Given the description of an element on the screen output the (x, y) to click on. 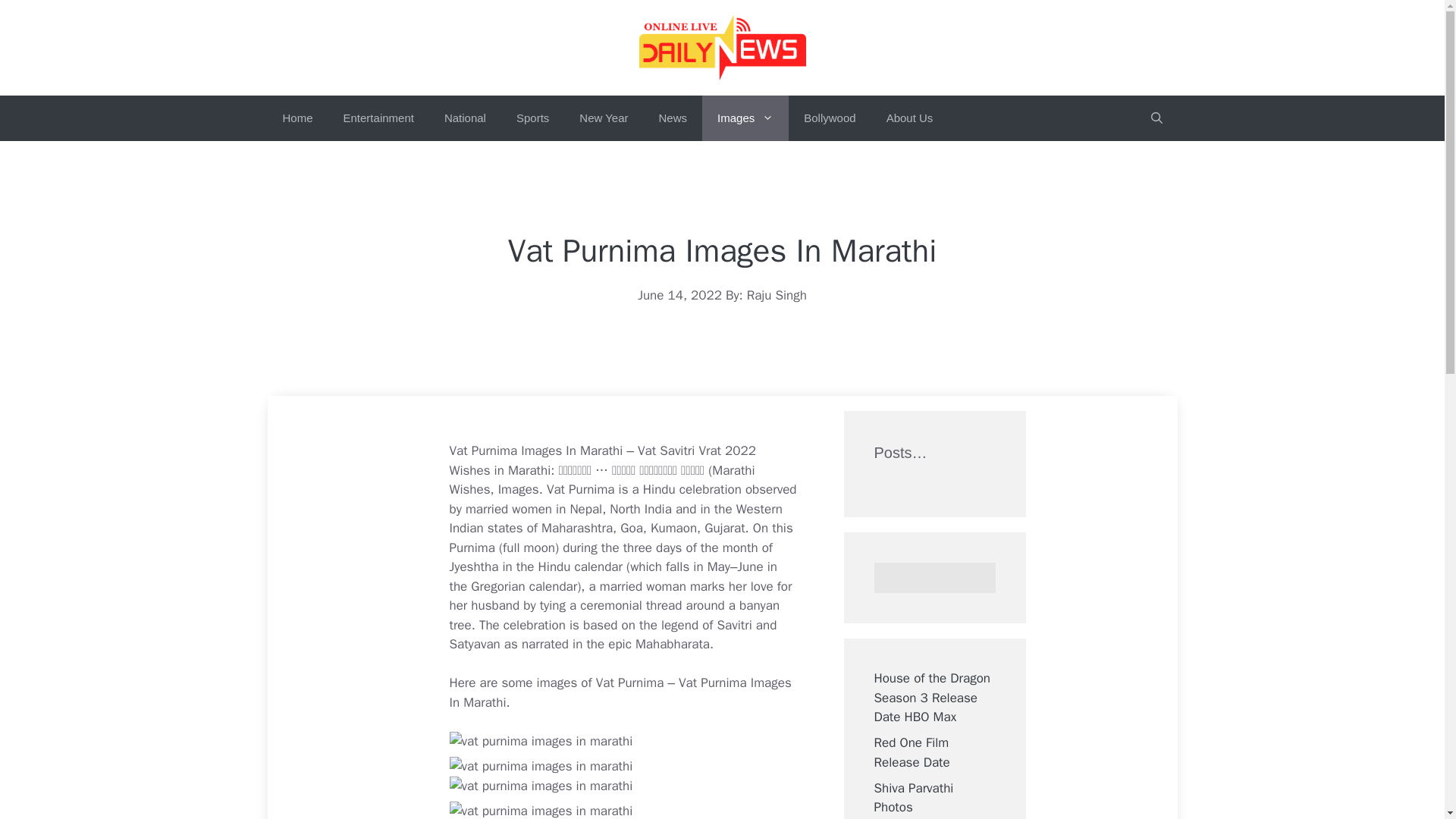
Vat Purnima Images In Marathi 4 (539, 810)
Vat Purnima Images In Marathi 3 (539, 786)
National (464, 117)
Shiva Parvathi Photos (913, 797)
Entertainment (379, 117)
Home (296, 117)
New Year (603, 117)
Images (745, 117)
Vat Purnima Images In Marathi 1 (539, 741)
Bollywood (829, 117)
